Given the description of an element on the screen output the (x, y) to click on. 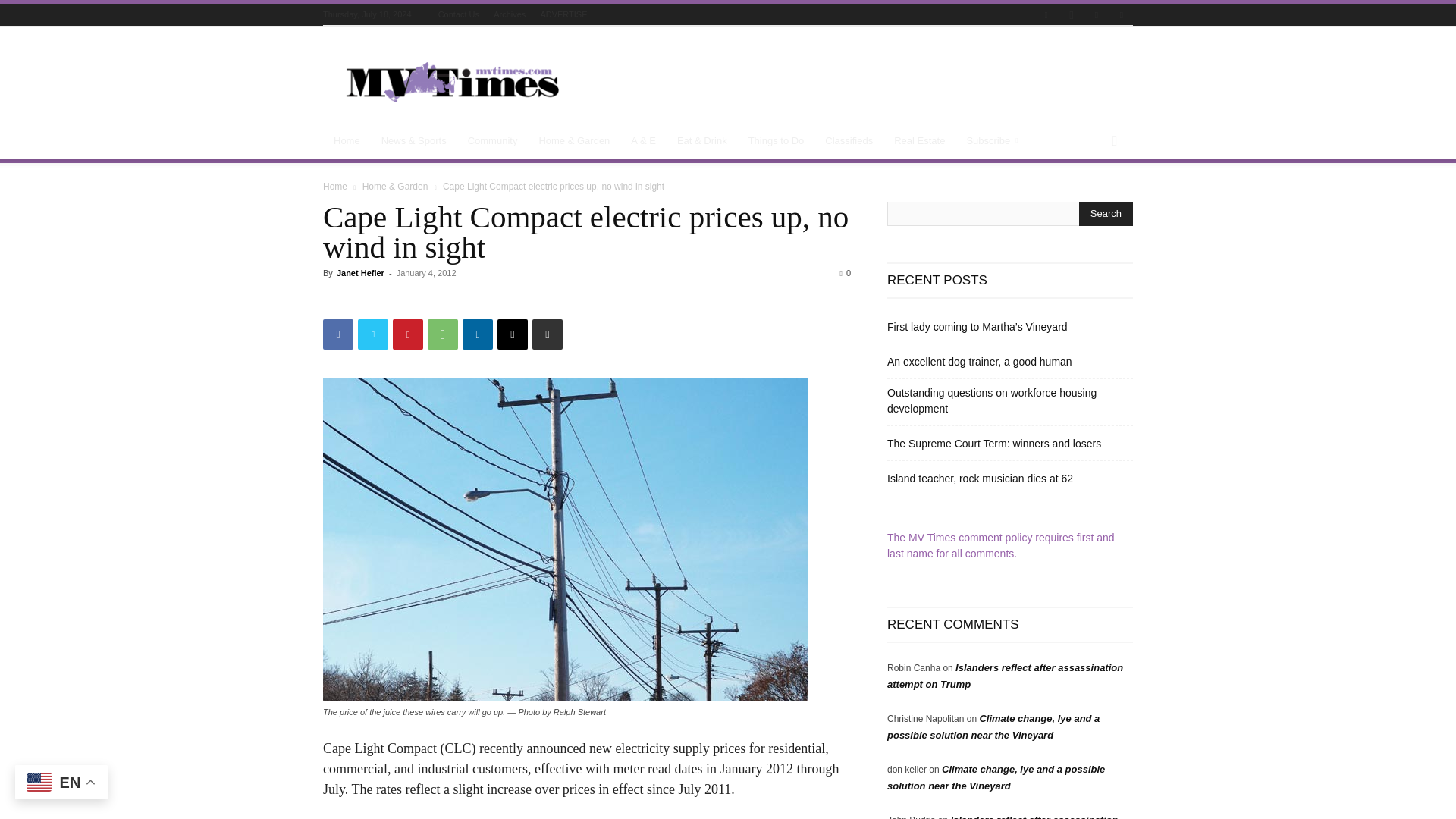
Facebook (1046, 14)
Archives (509, 13)
Subscribe (994, 140)
Search (1105, 213)
Real Estate (919, 140)
Home (347, 140)
Classifieds (848, 140)
Things to Do (776, 140)
Instagram (1071, 14)
Community (492, 140)
Contact Us (458, 13)
ADVERTISE (563, 13)
3rd party ad content (856, 81)
Twitter (1096, 14)
Facebook (338, 334)
